Given the description of an element on the screen output the (x, y) to click on. 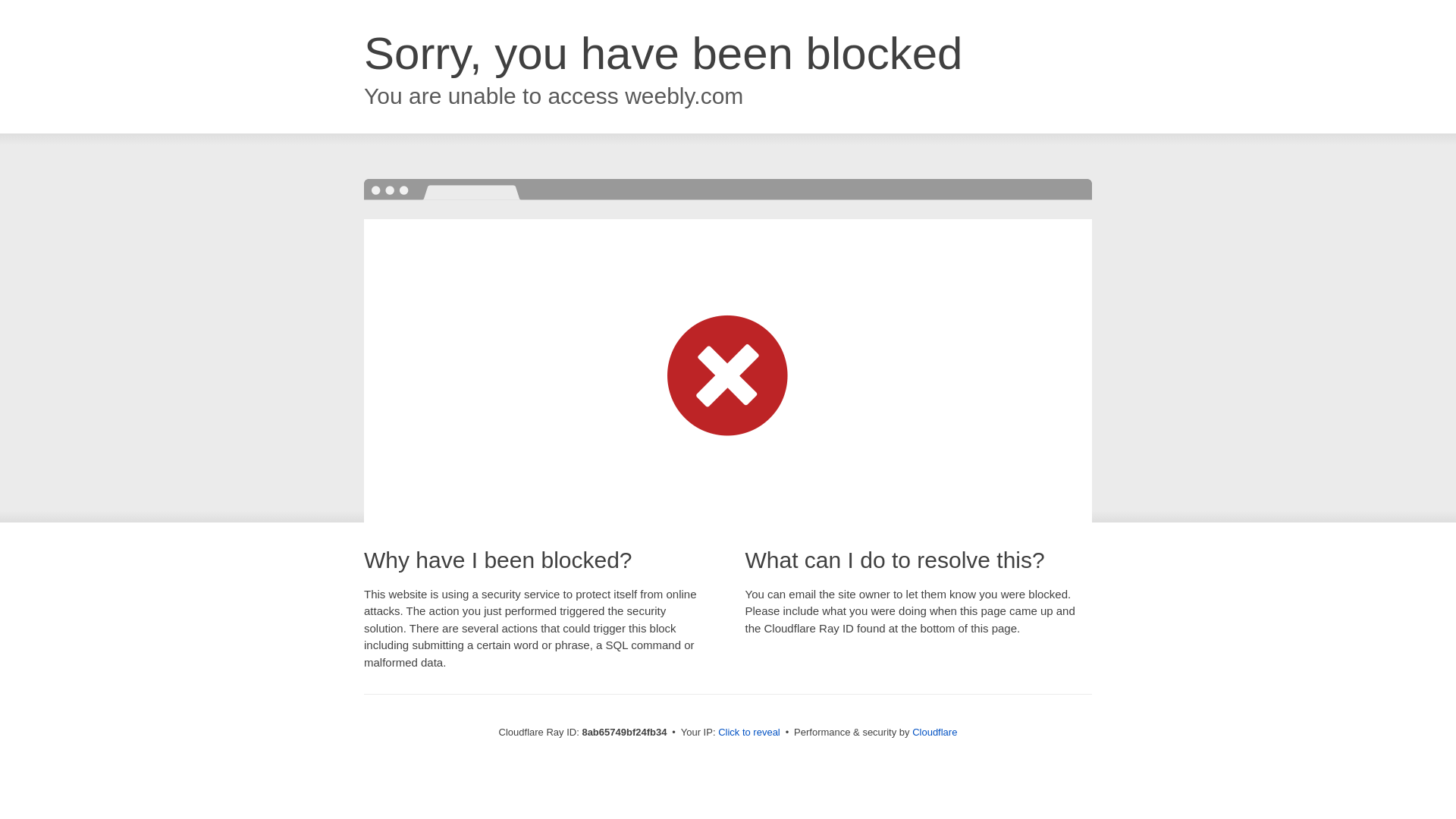
Click to reveal (748, 732)
Cloudflare (934, 731)
